Given the description of an element on the screen output the (x, y) to click on. 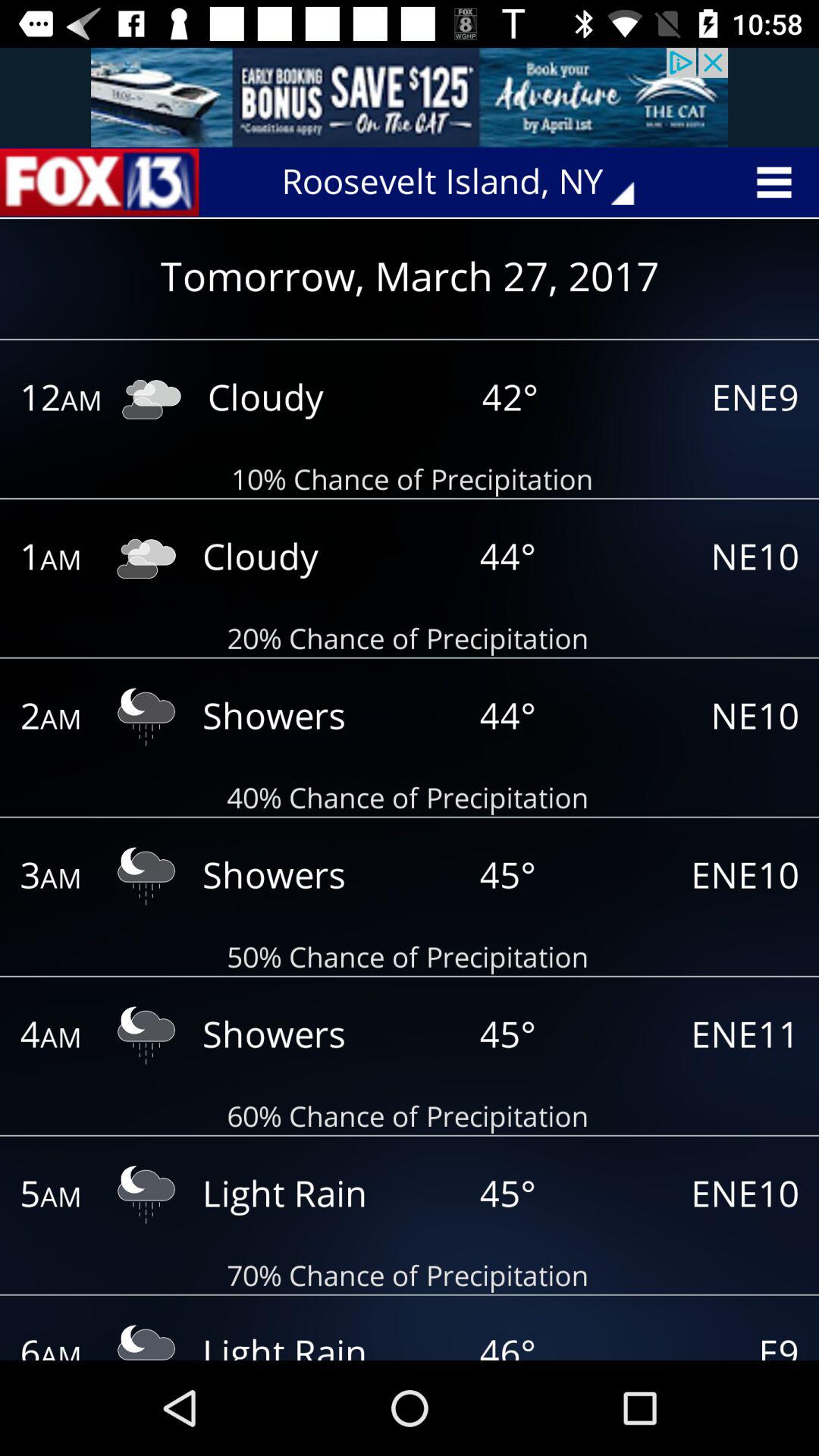
cruise advertisement (409, 97)
